Given the description of an element on the screen output the (x, y) to click on. 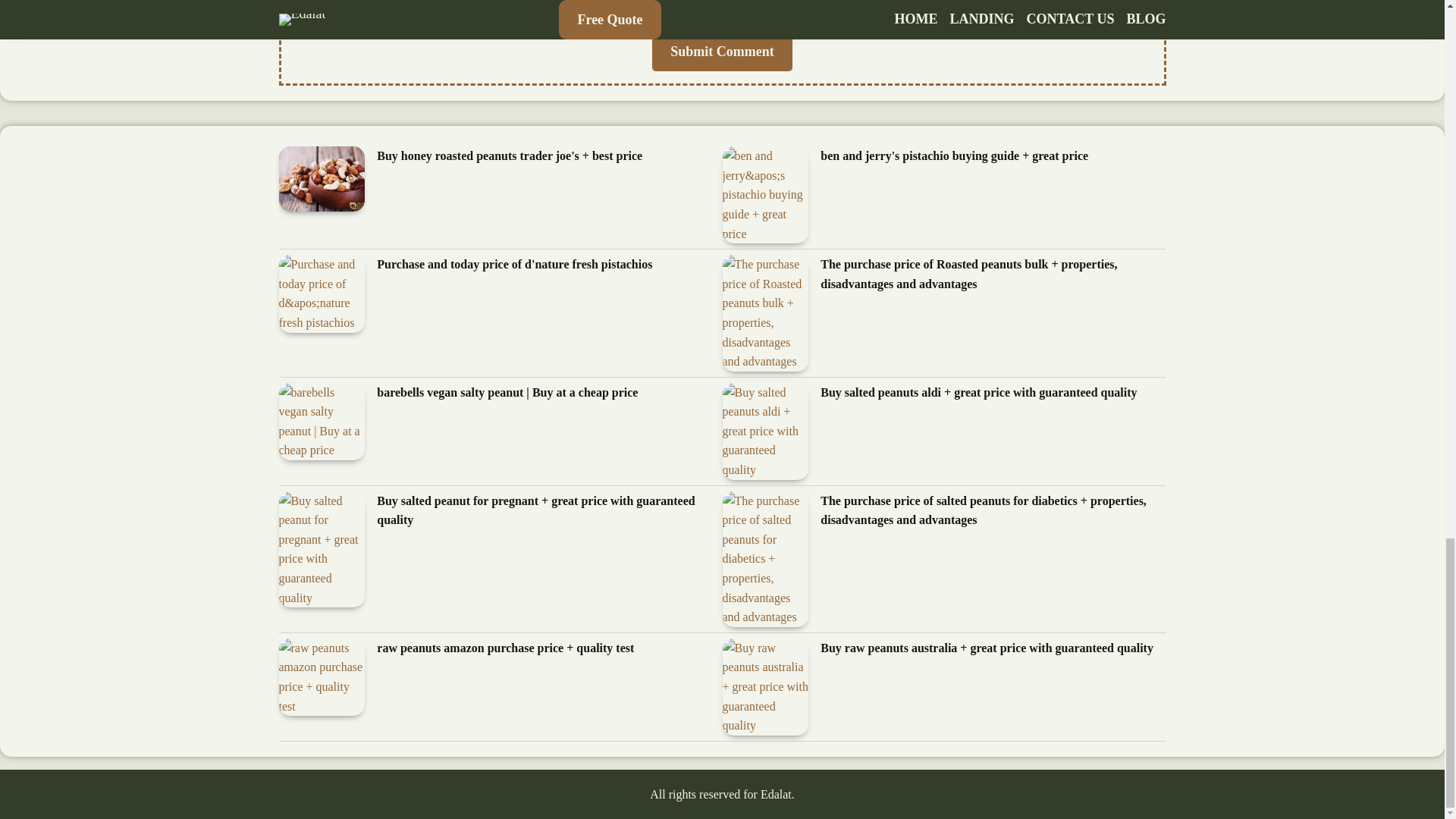
Submit Comment (722, 51)
Submit Comment (722, 51)
Purchase and today price of d'nature fresh pistachios (514, 264)
